Given the description of an element on the screen output the (x, y) to click on. 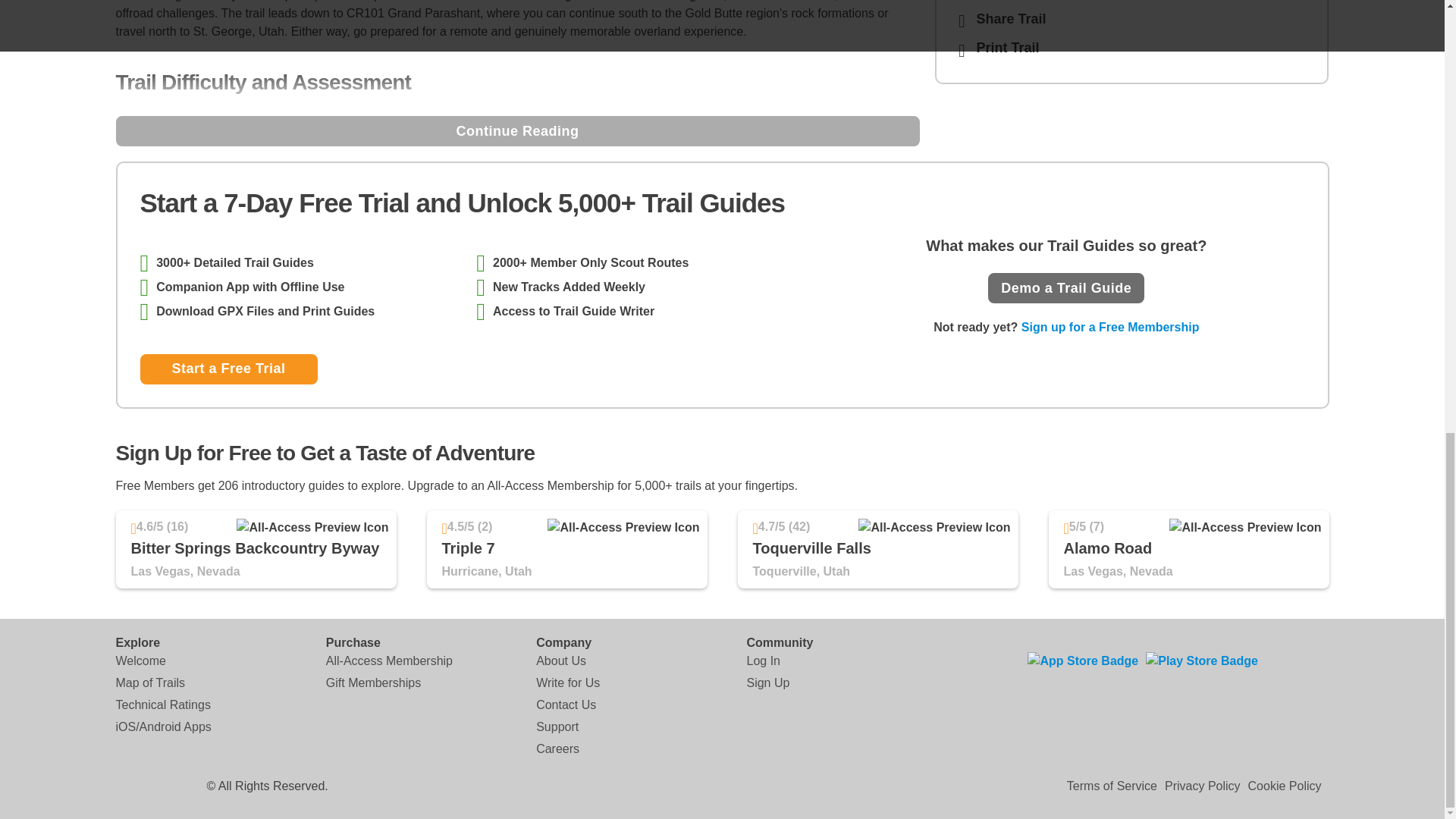
Demo a Trail Guide (1066, 287)
About Us (560, 660)
Technical Ratings (162, 705)
Start a Free Trial (228, 368)
Welcome (140, 660)
All-Access Membership (389, 660)
Map of Trails (149, 683)
Gift Memberships (373, 683)
Continue Reading (516, 131)
Sign up for a Free Membership (1110, 327)
